Given the description of an element on the screen output the (x, y) to click on. 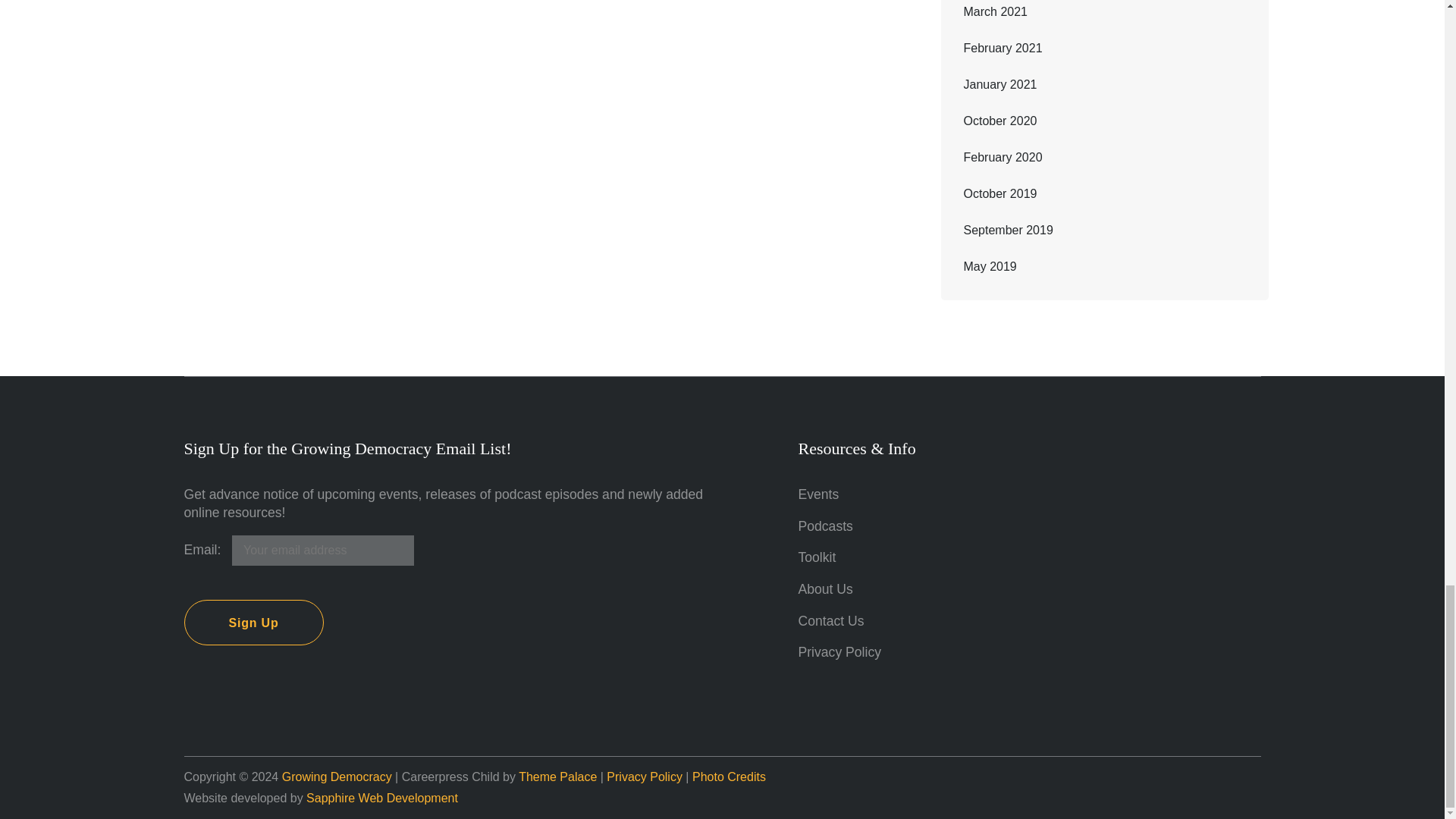
Sign up (253, 622)
